Given the description of an element on the screen output the (x, y) to click on. 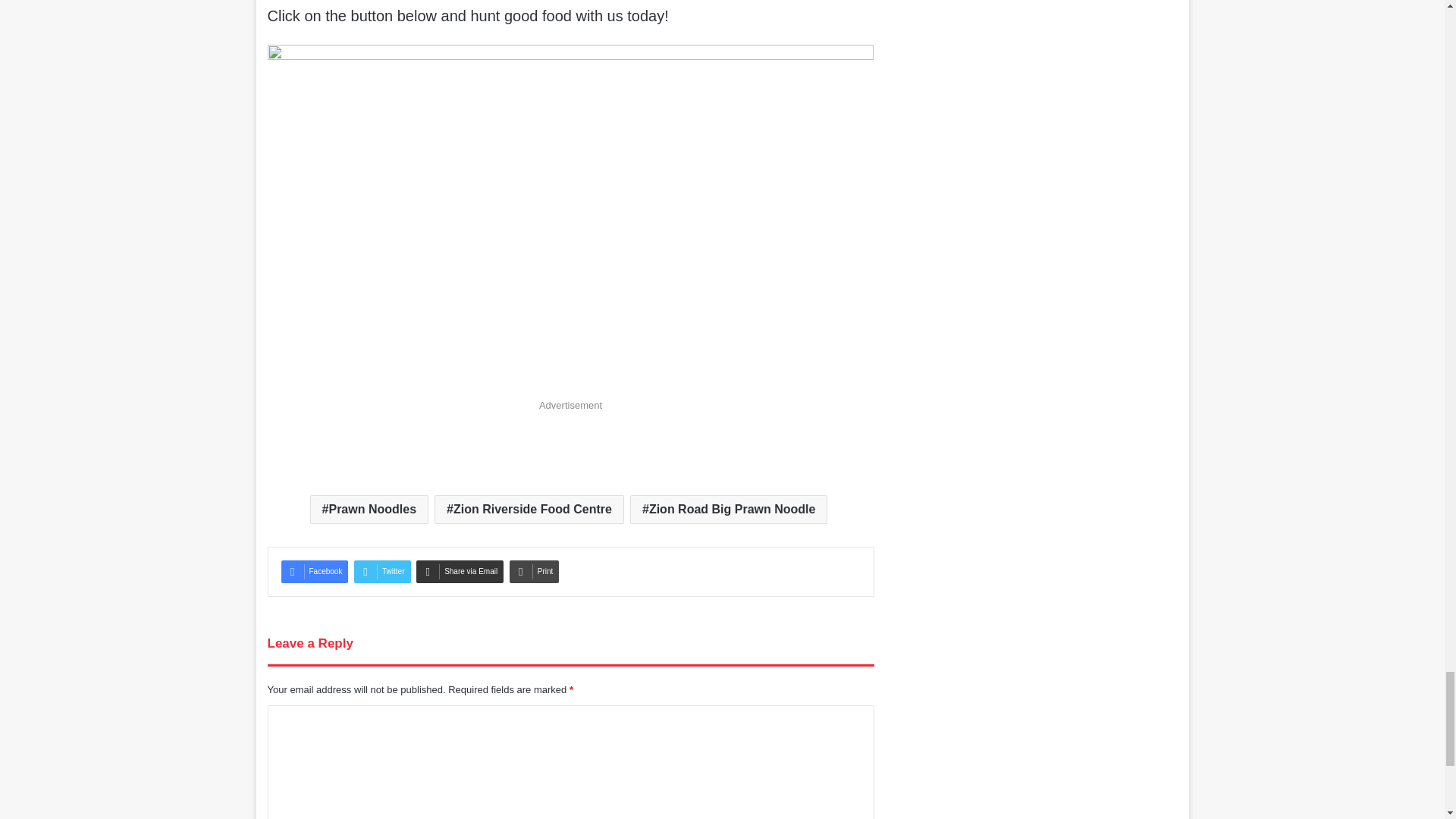
Twitter (381, 571)
Facebook (314, 571)
Zion Road Big Prawn Noodle (728, 509)
Prawn Noodles (369, 509)
Share via Email (459, 571)
Print (534, 571)
Zion Riverside Food Centre (528, 509)
Twitter (381, 571)
Share via Email (459, 571)
Facebook (314, 571)
